Given the description of an element on the screen output the (x, y) to click on. 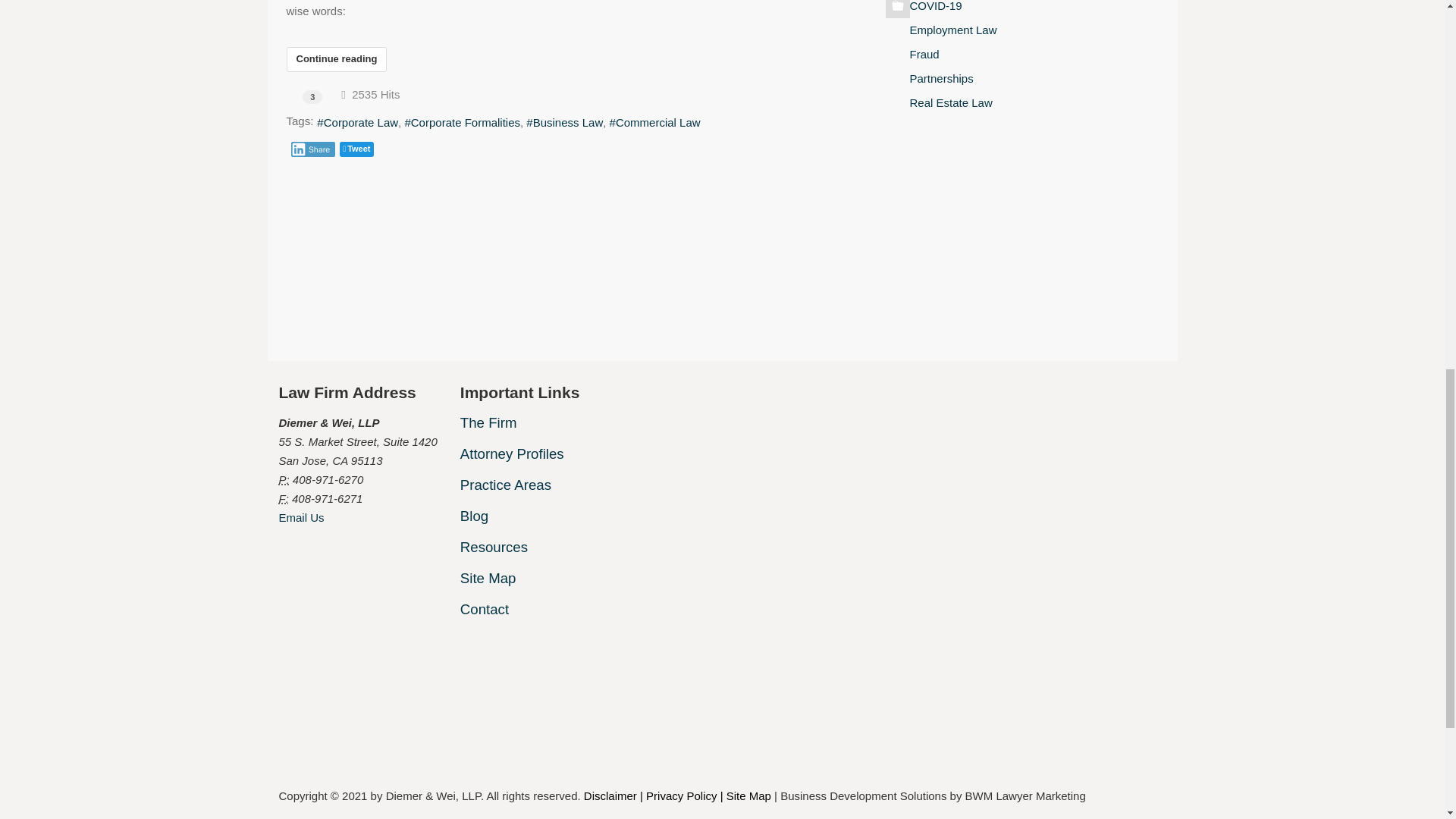
3 votes (311, 97)
Email Us (301, 517)
